Given the description of an element on the screen output the (x, y) to click on. 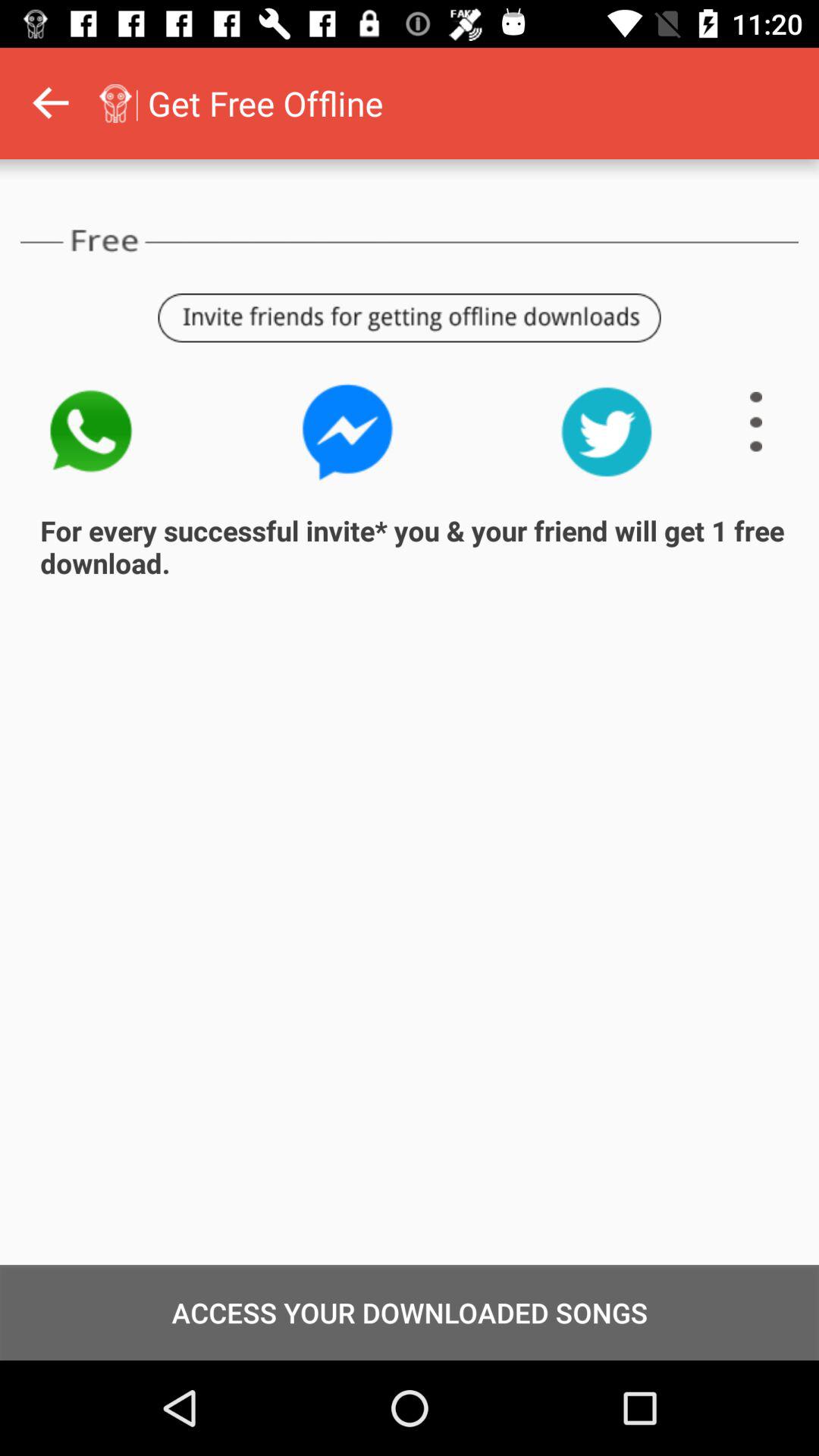
invite friends via twitter (606, 431)
